Given the description of an element on the screen output the (x, y) to click on. 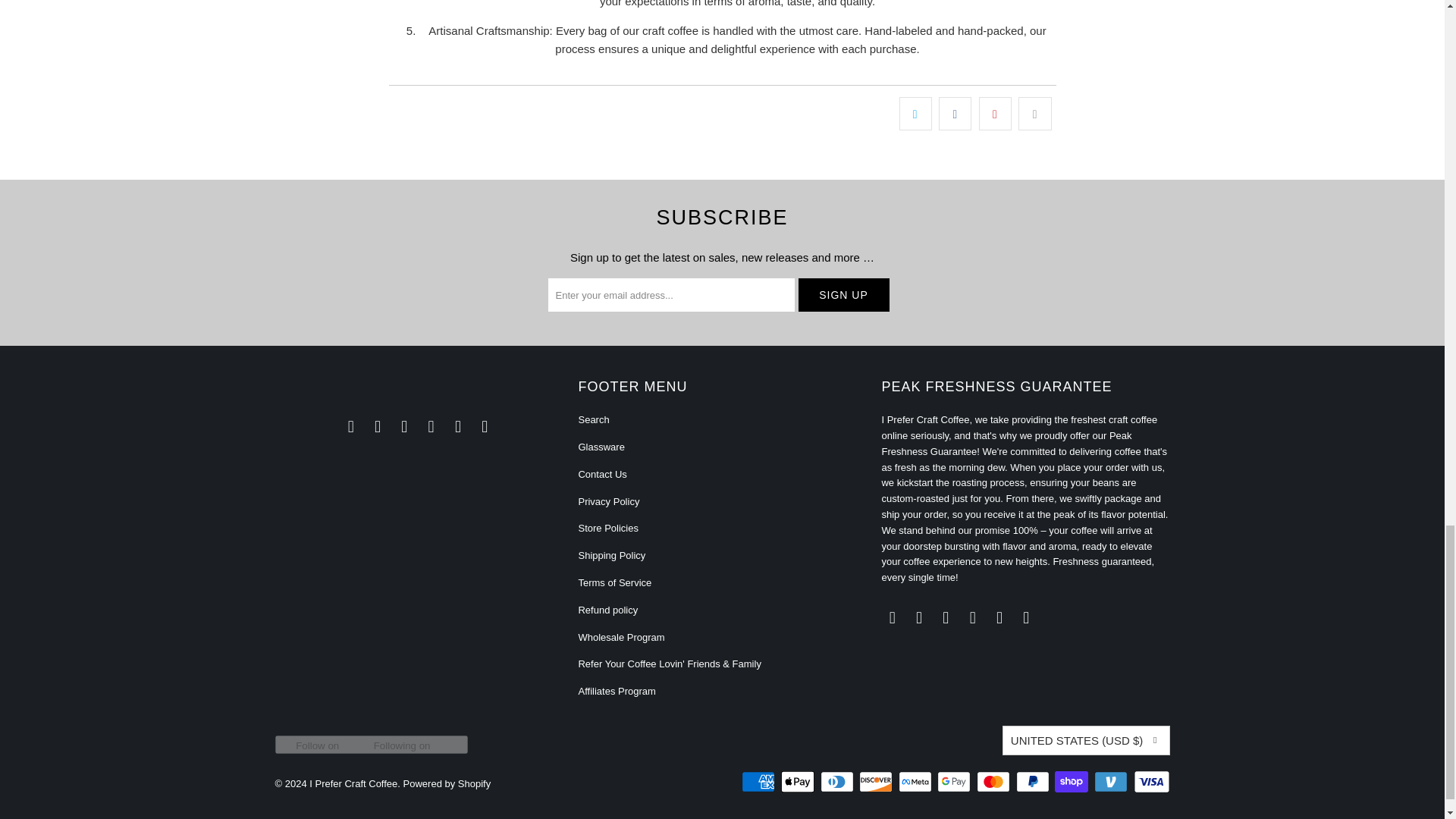
Meta Pay (916, 781)
Venmo (1112, 781)
Diners Club (839, 781)
Google Pay (955, 781)
Sign Up (842, 295)
Apple Pay (798, 781)
Discover (877, 781)
Share this on Twitter (915, 113)
Share this on Facebook (955, 113)
American Express (759, 781)
PayPal (1034, 781)
Mastercard (994, 781)
Visa (1150, 781)
Shop Pay (1072, 781)
Share this on Pinterest (994, 113)
